Given the description of an element on the screen output the (x, y) to click on. 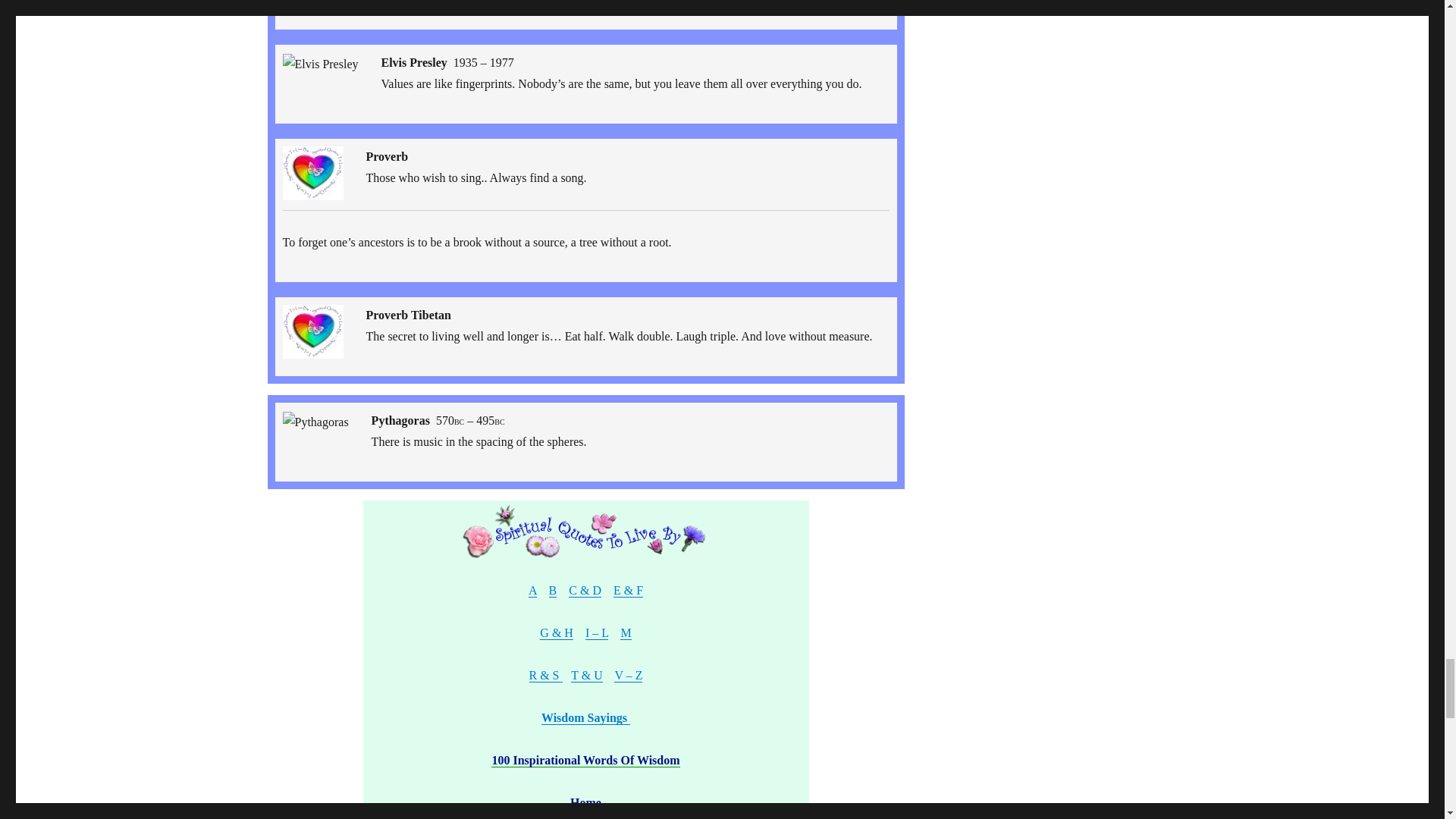
100 Inspirational Words Of Wisdom (585, 759)
Wisdom Sayings  (585, 717)
Home (585, 802)
